Given the description of an element on the screen output the (x, y) to click on. 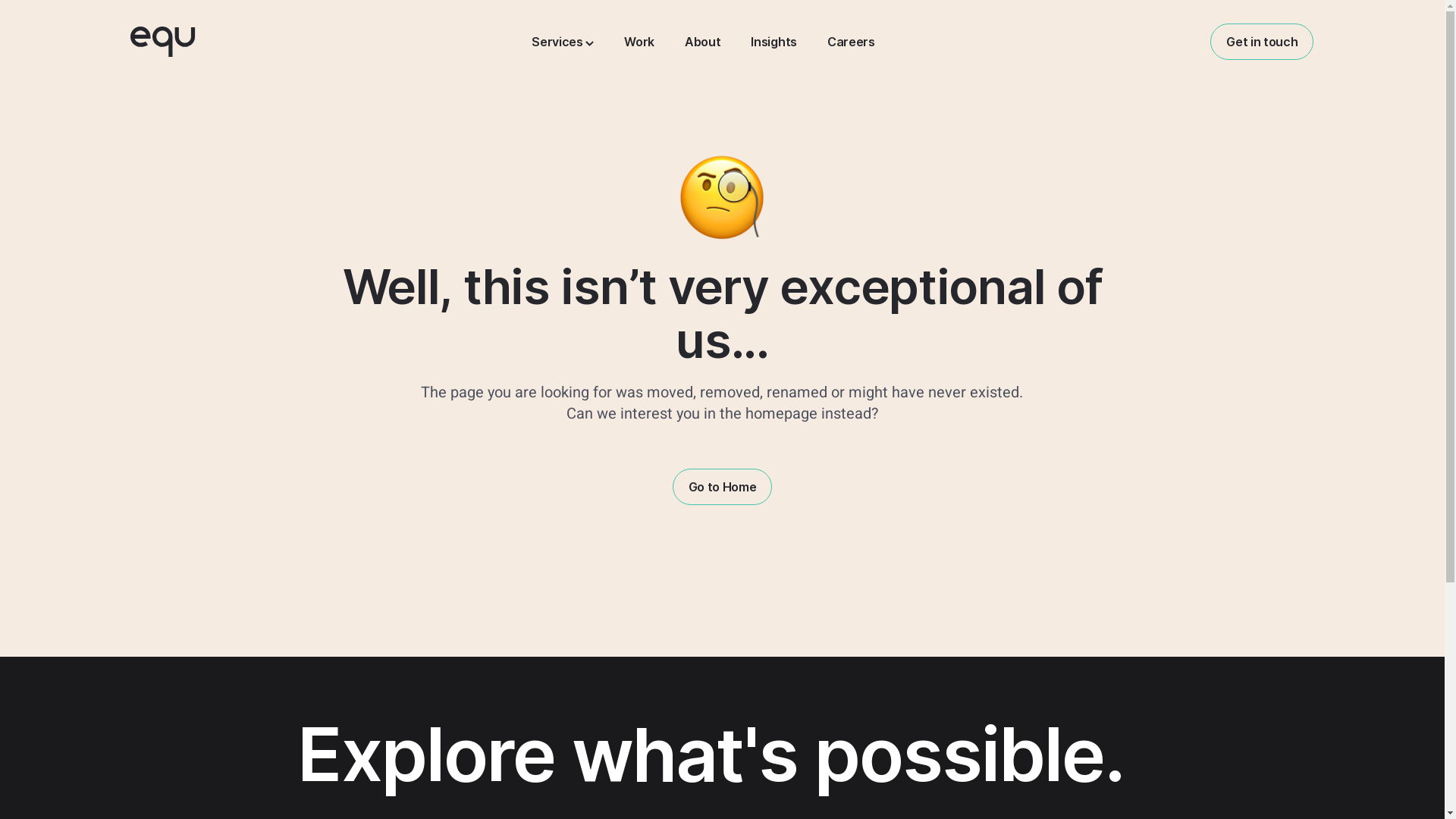
Insights Element type: text (773, 40)
Get in touch Element type: text (1261, 41)
Work Element type: text (639, 40)
Go to Home Element type: text (722, 486)
Careers Element type: text (851, 40)
About Element type: text (702, 40)
Explore what's possible. Element type: text (721, 725)
Services Element type: text (562, 40)
